Given the description of an element on the screen output the (x, y) to click on. 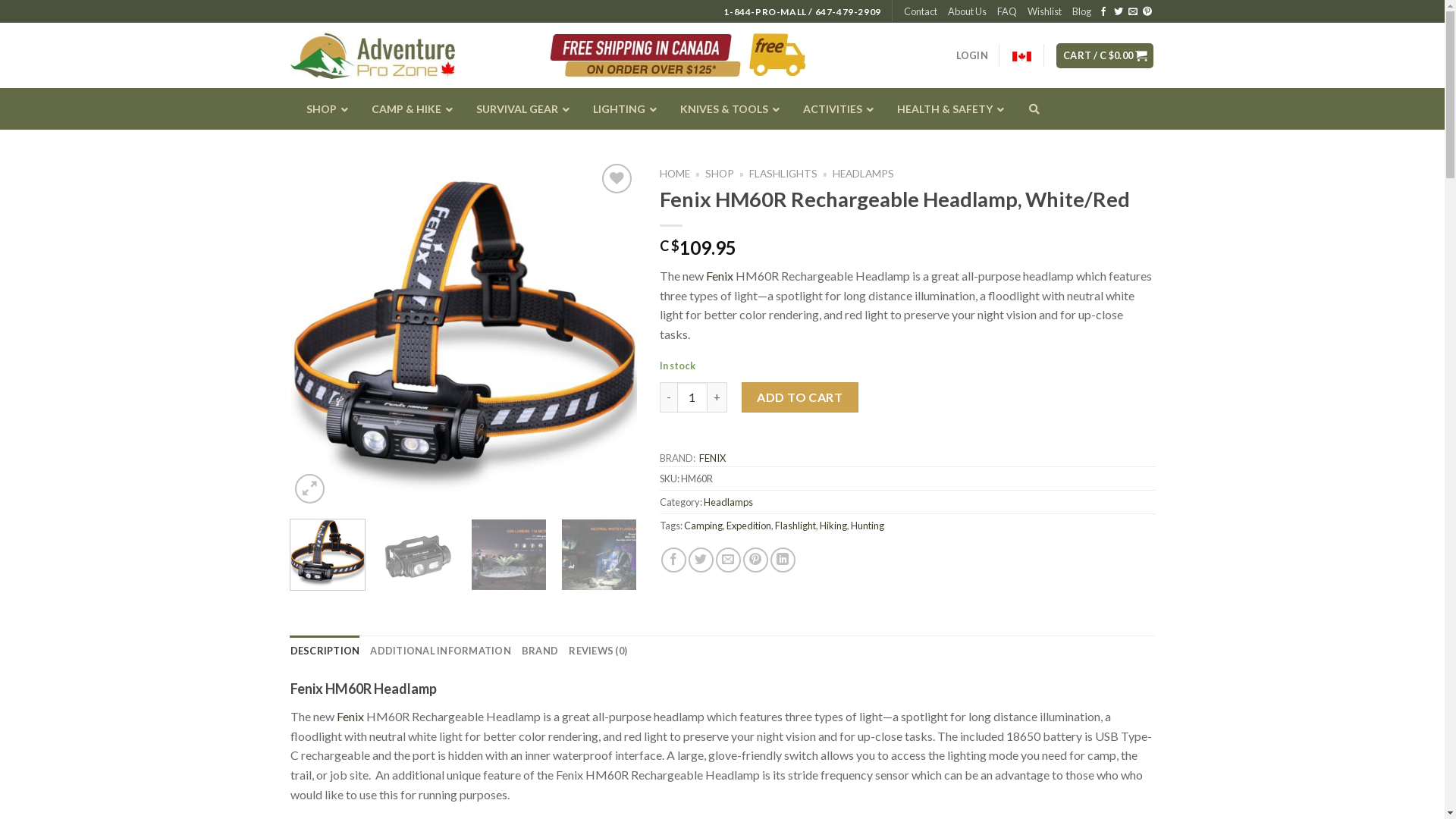
Pin on Pinterest Element type: hover (755, 559)
HEADLAMPS Element type: text (863, 173)
Blog Element type: text (1081, 11)
LOGIN Element type: text (972, 55)
About Us Element type: text (966, 11)
ADDITIONAL INFORMATION Element type: text (440, 650)
HM60R Element type: hover (463, 333)
ADD TO CART Element type: text (799, 397)
Wishlist Element type: text (1044, 11)
Follow on Facebook Element type: hover (1102, 11)
KNIVES & TOOLS Element type: text (725, 109)
CAMP & HIKE Element type: text (406, 109)
DESCRIPTION Element type: text (324, 650)
SHOP Element type: text (719, 173)
HOME Element type: text (674, 173)
Share on LinkedIn Element type: hover (782, 559)
Send us an email Element type: hover (1132, 11)
Fenix Element type: text (719, 275)
Camping Element type: text (703, 525)
ACTIVITIES Element type: text (834, 109)
Email to a Friend Element type: hover (727, 559)
FLASHLIGHTS Element type: text (783, 173)
Skip to content Element type: text (0, 0)
Flashlight Element type: text (795, 525)
BRAND Element type: text (539, 650)
Share on Facebook Element type: hover (673, 559)
FENIX Element type: text (712, 458)
CART / C $0.00 Element type: text (1104, 55)
FAQ Element type: text (1006, 11)
Follow on Pinterest Element type: hover (1146, 11)
Contact Element type: text (920, 11)
Fenix Element type: text (350, 716)
SURVIVAL GEAR Element type: text (517, 109)
Expedition Element type: text (748, 525)
HEALTH & SAFETY Element type: text (946, 109)
SHOP Element type: text (323, 109)
Zoom Element type: hover (309, 488)
Share on Twitter Element type: hover (700, 559)
Headlamps Element type: text (728, 501)
Hunting Element type: text (867, 525)
LIGHTING Element type: text (619, 109)
REVIEWS (0) Element type: text (597, 650)
Search Element type: text (1038, 155)
Follow on Twitter Element type: hover (1117, 11)
Hiking Element type: text (833, 525)
